Given the description of an element on the screen output the (x, y) to click on. 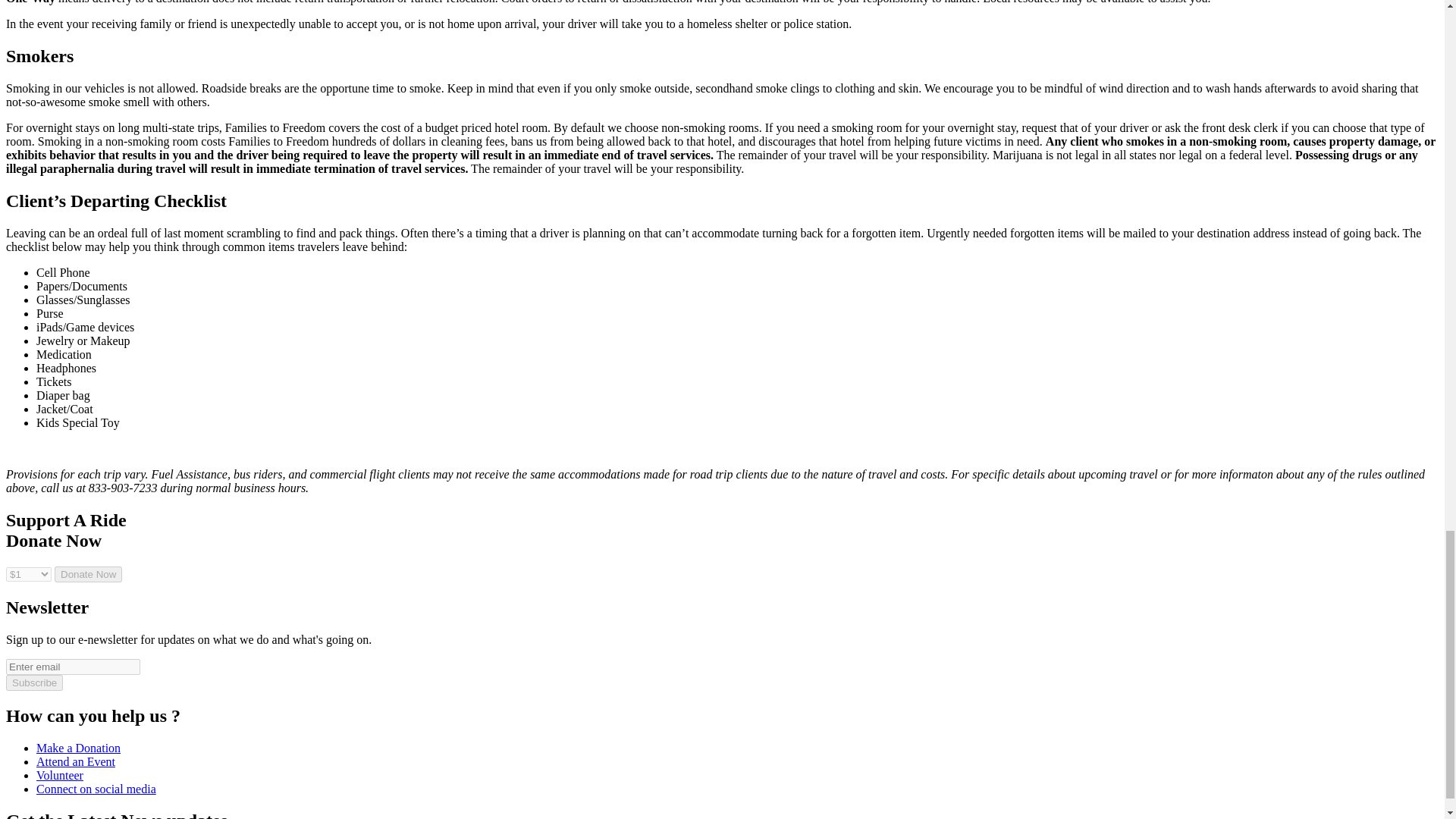
Volunteer (59, 775)
Subscribe (33, 682)
Connect on social media (95, 788)
Make a Donation (78, 748)
Attend an Event (75, 761)
Donate Now (88, 574)
